Given the description of an element on the screen output the (x, y) to click on. 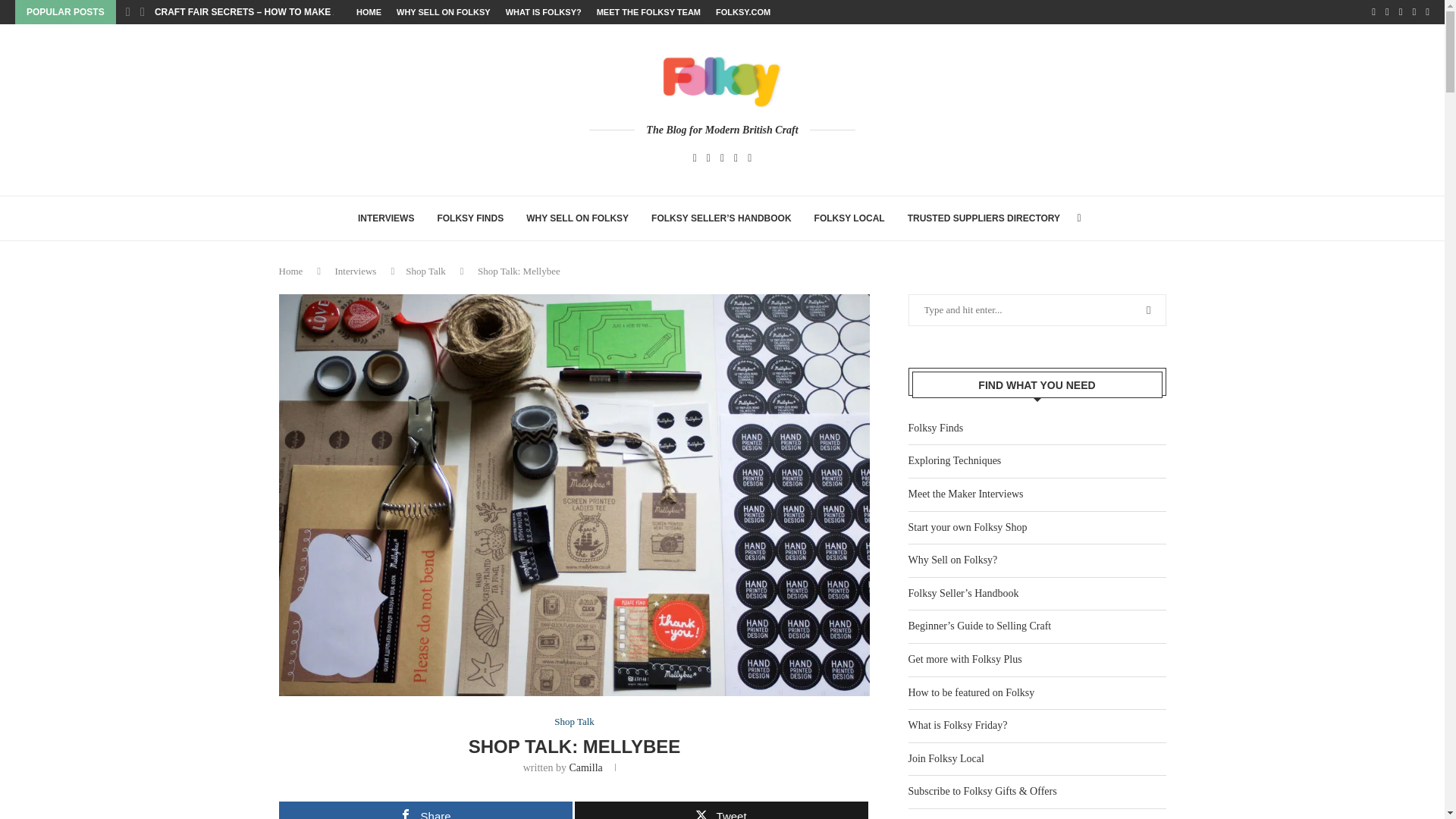
WHY SELL ON FOLKSY (443, 12)
FOLKSY.COM (743, 12)
WHAT IS FOLKSY? (542, 12)
MEET THE FOLKSY TEAM (648, 12)
HOME (368, 12)
